Given the description of an element on the screen output the (x, y) to click on. 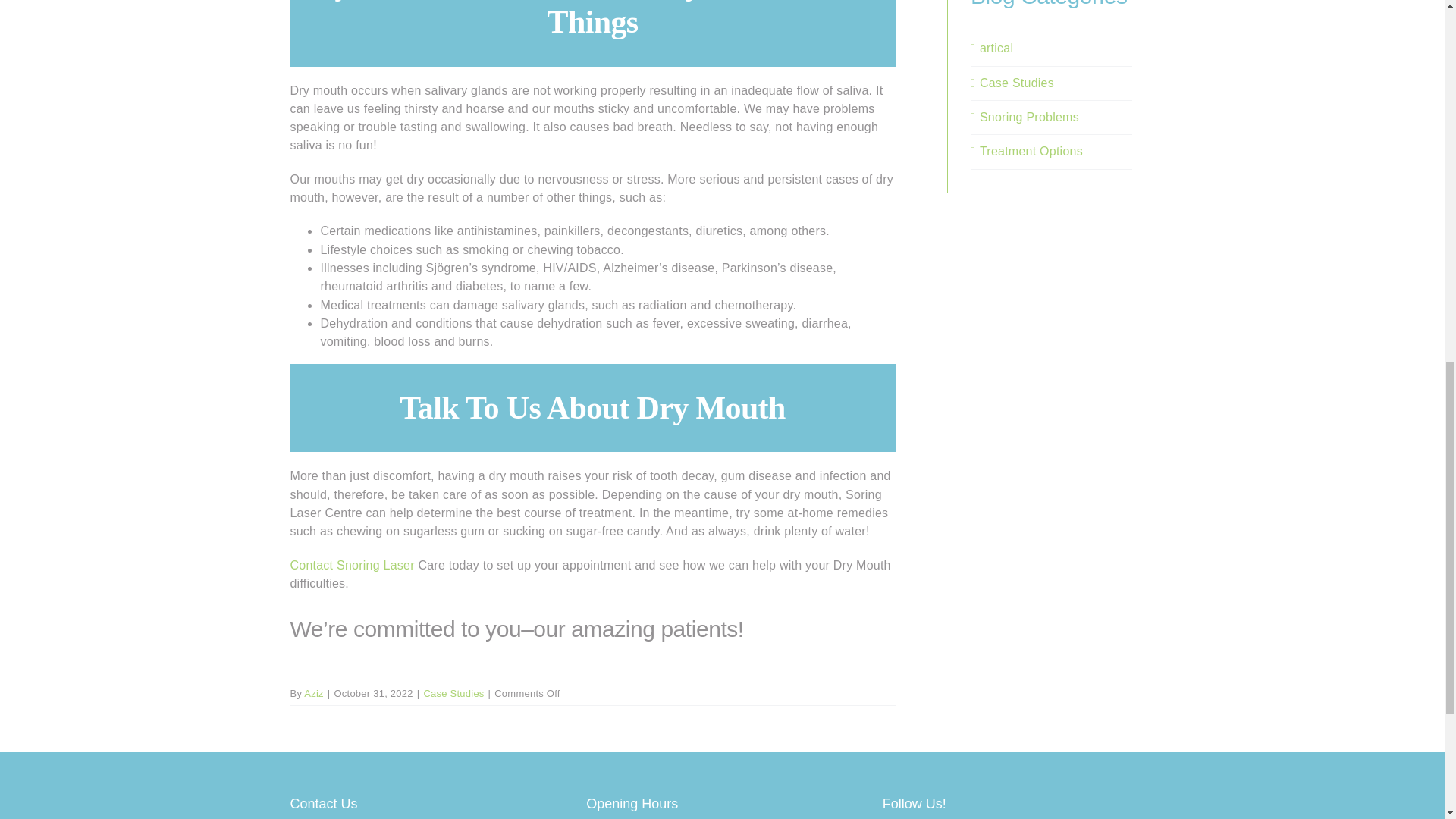
Case Studies (453, 693)
Case Studies (1051, 83)
Contact Snoring Laser (351, 564)
Posts by Aziz (313, 693)
Treatment Options (1051, 151)
Aziz (313, 693)
Snoring Problems (1051, 117)
artical (1051, 48)
